Given the description of an element on the screen output the (x, y) to click on. 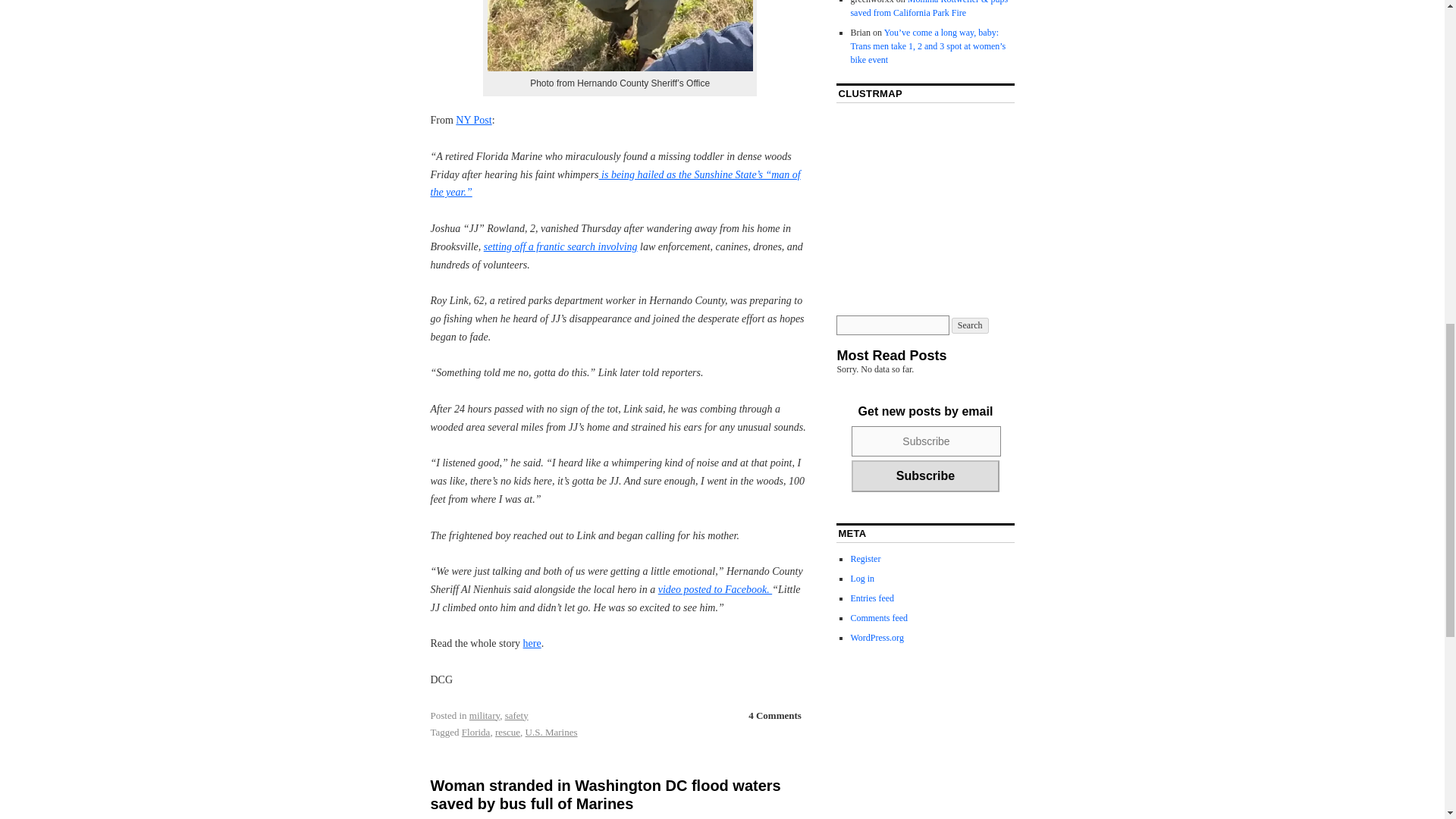
NY Post (473, 120)
Florida (475, 731)
U.S. Marines (551, 731)
4 Comments (775, 715)
military (483, 715)
Search (970, 325)
here (531, 643)
rescue (507, 731)
video posted to Facebook.  (714, 589)
setting off a frantic search involving (560, 246)
